Given the description of an element on the screen output the (x, y) to click on. 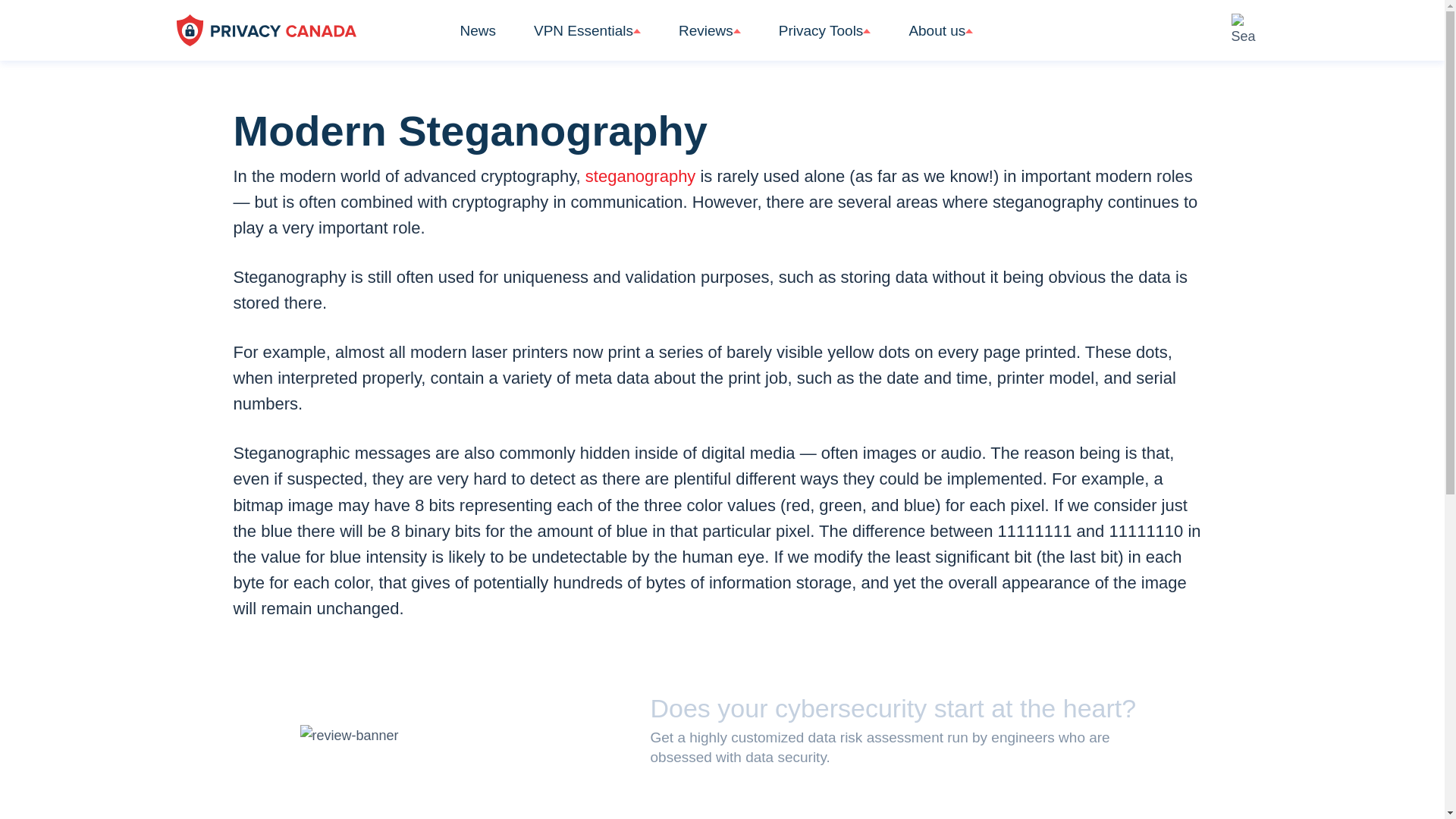
Reviews (709, 39)
News (478, 39)
VPN Essentials (587, 39)
Privacy Tools (824, 39)
About us (940, 39)
